Given the description of an element on the screen output the (x, y) to click on. 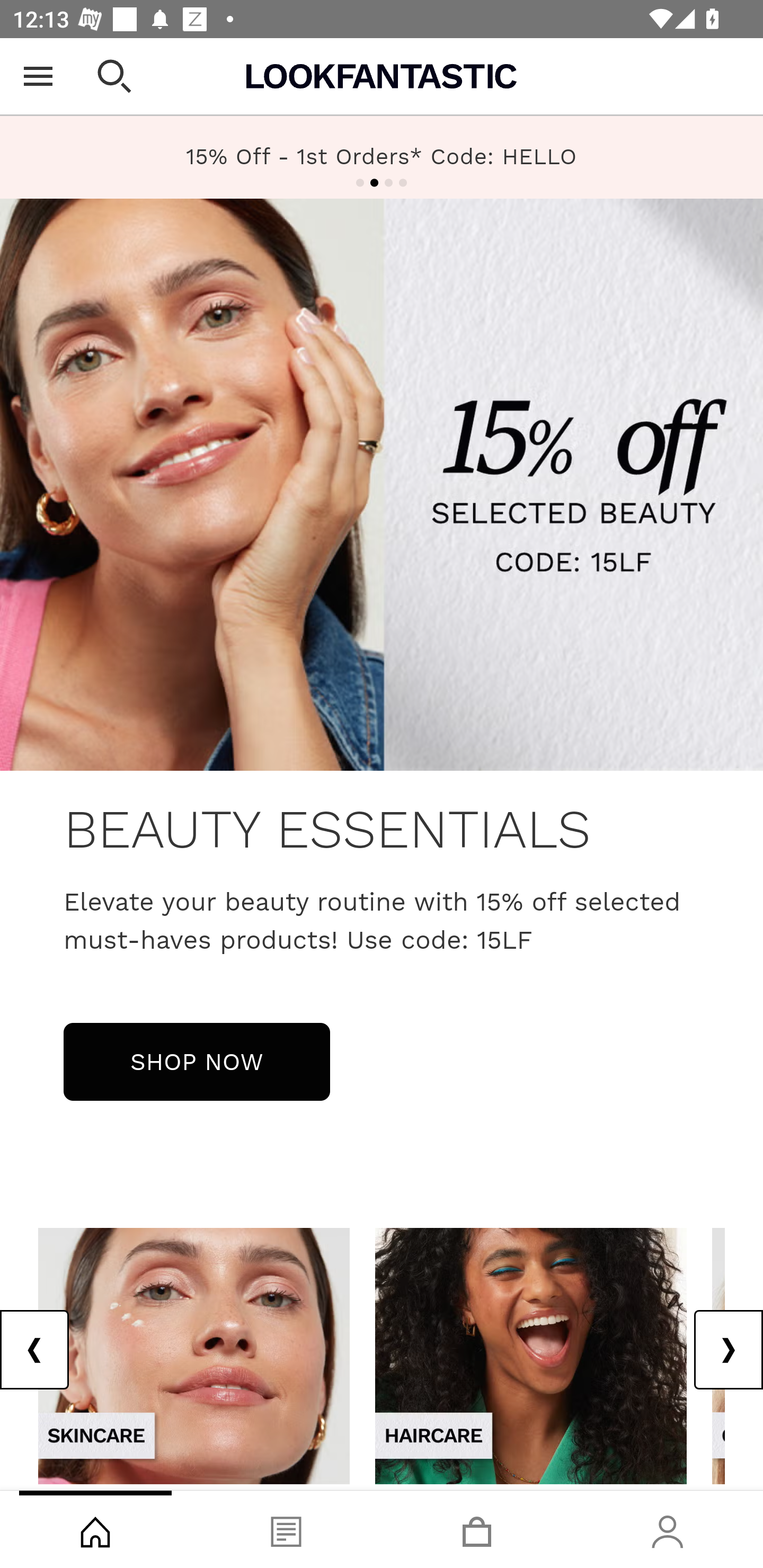
Open Menu (38, 75)
Open search (114, 75)
Lookfantastic USA (381, 75)
SHOP NOW (196, 1061)
view-all (193, 1355)
view-all (530, 1355)
Previous (35, 1349)
Next (727, 1349)
Shop, tab, 1 of 4 (95, 1529)
Blog, tab, 2 of 4 (285, 1529)
Basket, tab, 3 of 4 (476, 1529)
Account, tab, 4 of 4 (667, 1529)
